Given the description of an element on the screen output the (x, y) to click on. 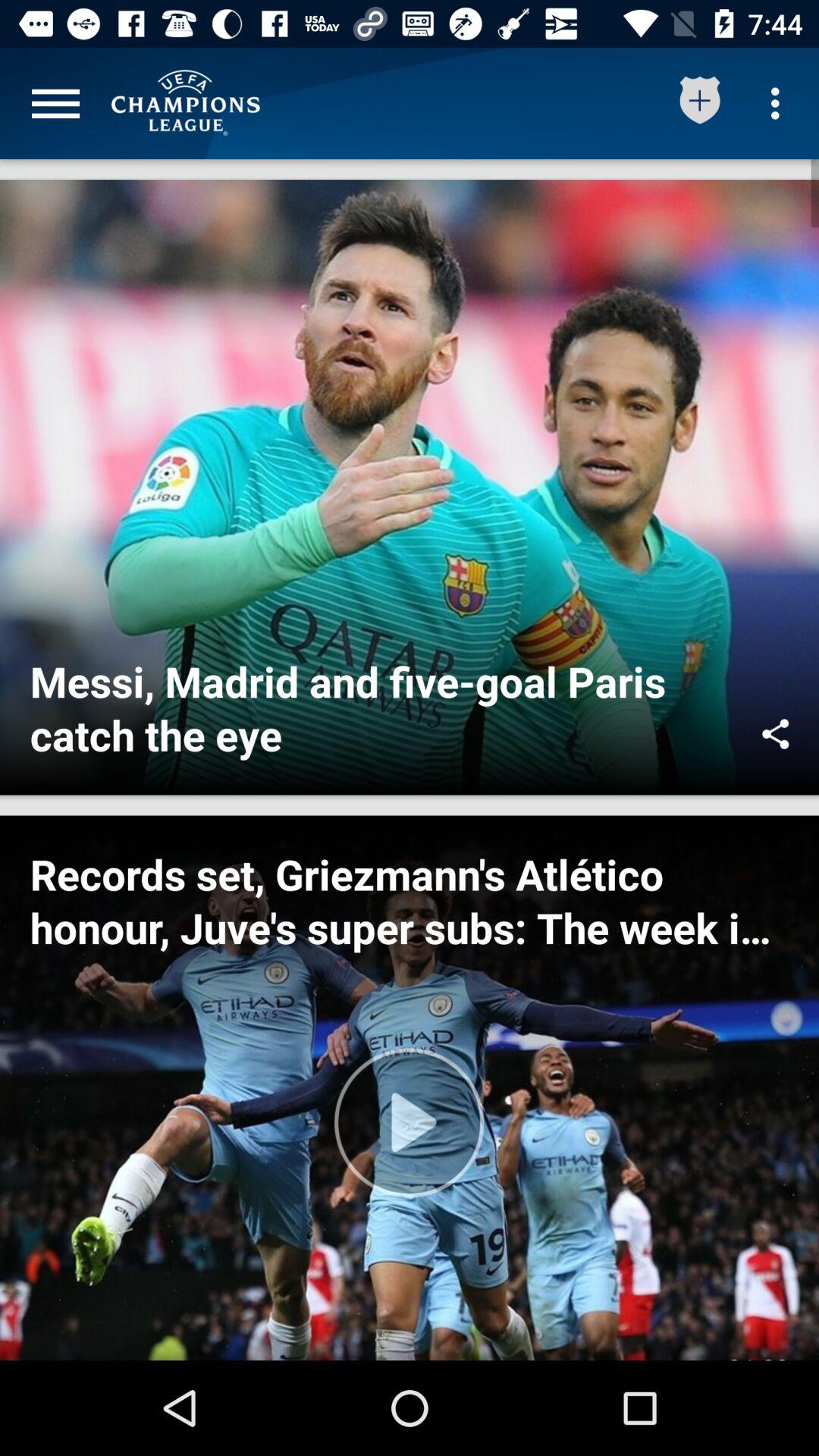
click menu (55, 103)
